Given the description of an element on the screen output the (x, y) to click on. 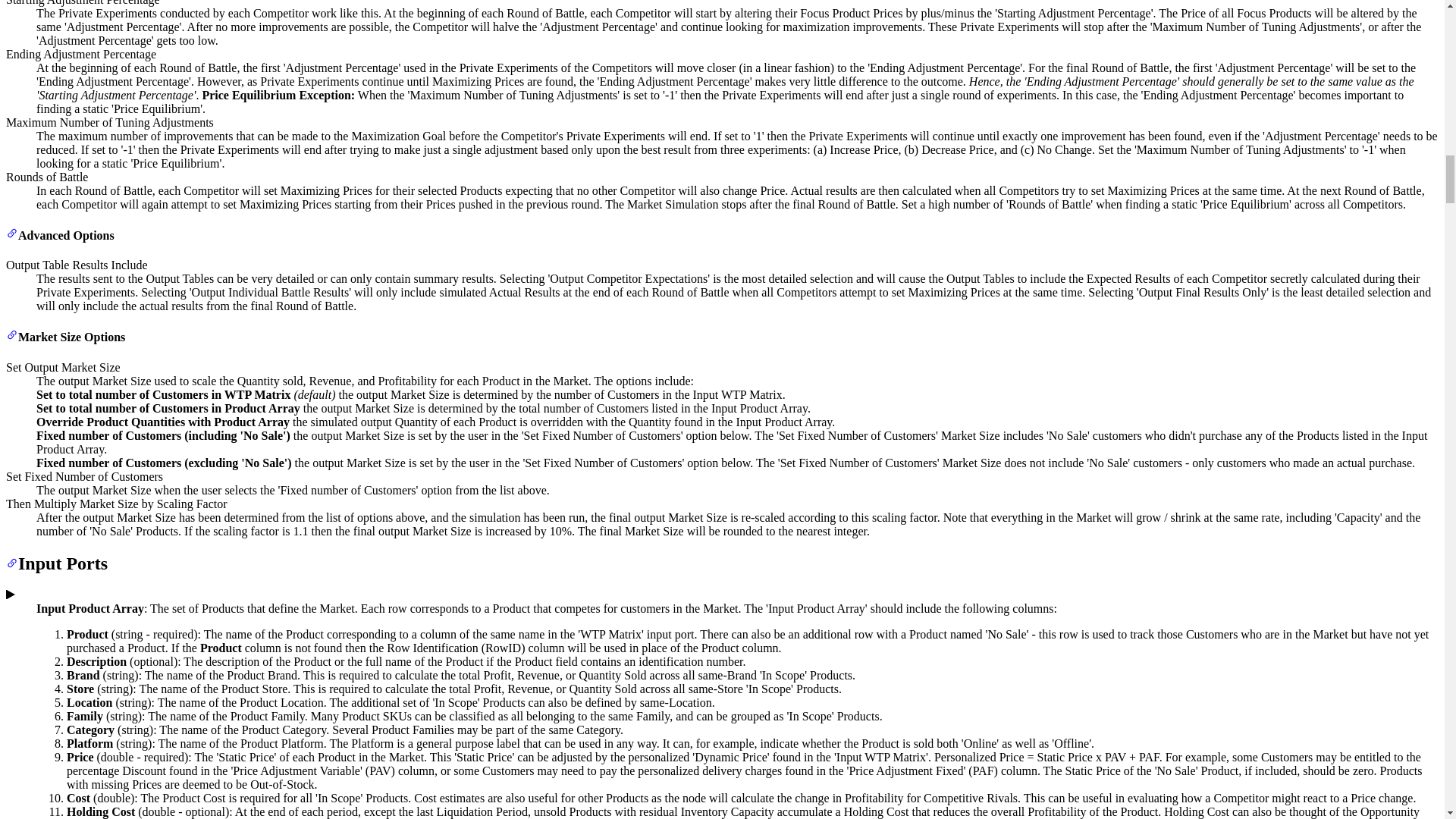
Port 0: Input Product Array (9, 594)
